Given the description of an element on the screen output the (x, y) to click on. 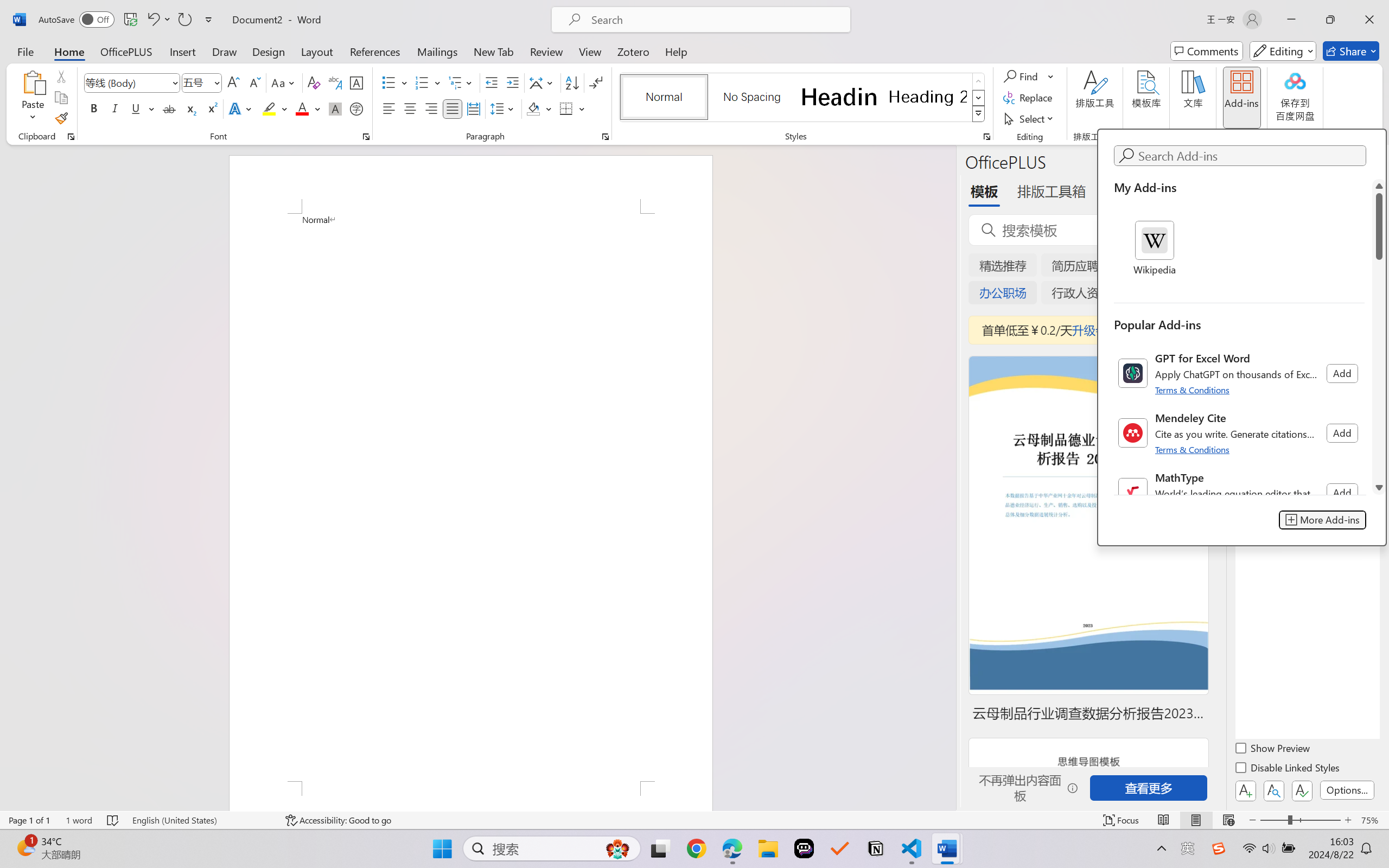
Save as Show (292, 62)
From Beginning... (85, 62)
